Given the description of an element on the screen output the (x, y) to click on. 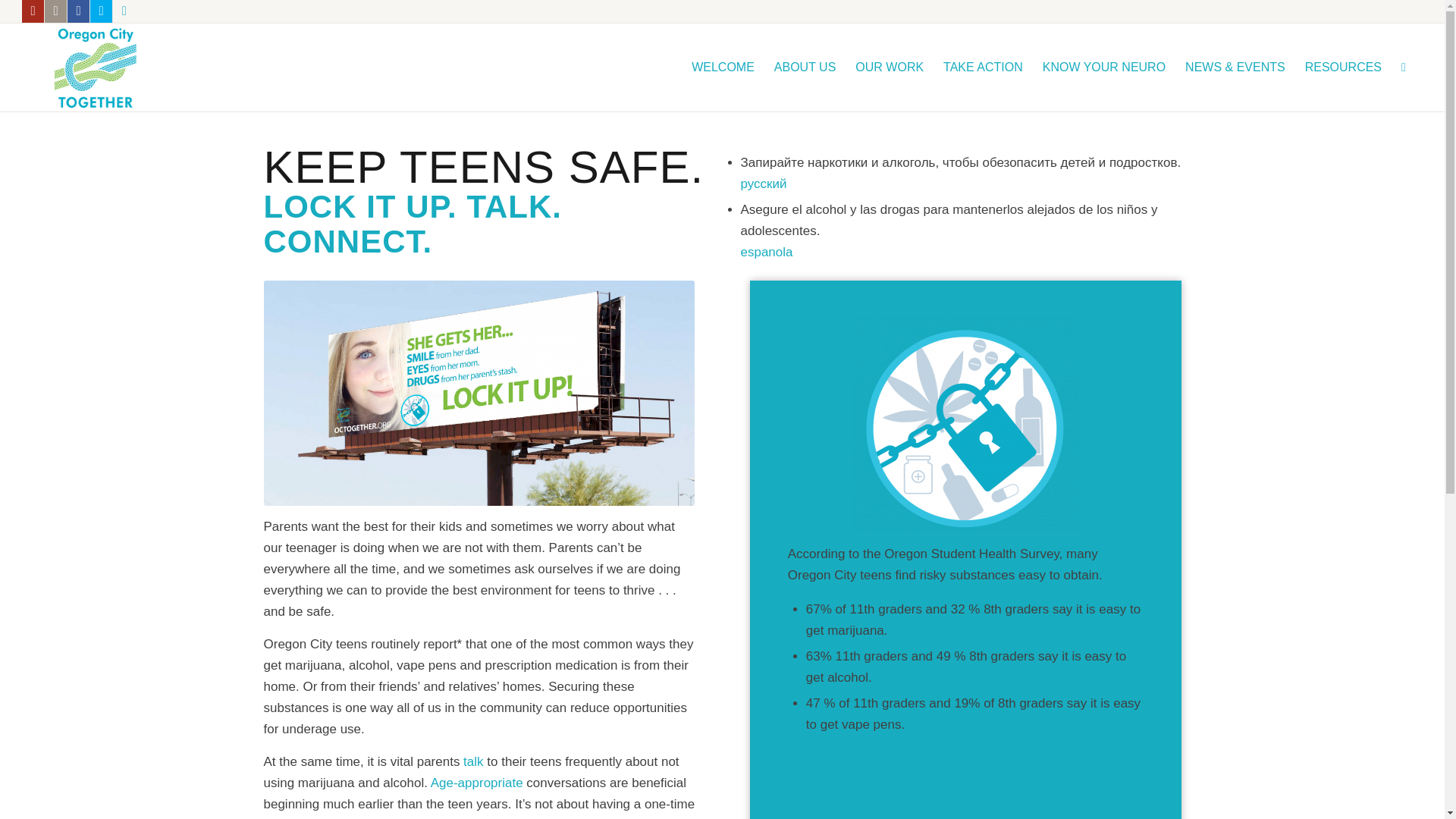
TAKE ACTION (982, 67)
Youtube (32, 11)
espanola (765, 251)
KNOW YOUR NEURO (1103, 67)
Facebook (77, 11)
Mail (124, 11)
talk (473, 760)
Keep Kids Safe - Lock It Up (479, 392)
OUR WORK (889, 67)
Age-appropriate (476, 782)
Instagram (55, 11)
Twitter (101, 11)
ABOUT US (804, 67)
WELCOME (722, 67)
RESOURCES (1343, 67)
